Given the description of an element on the screen output the (x, y) to click on. 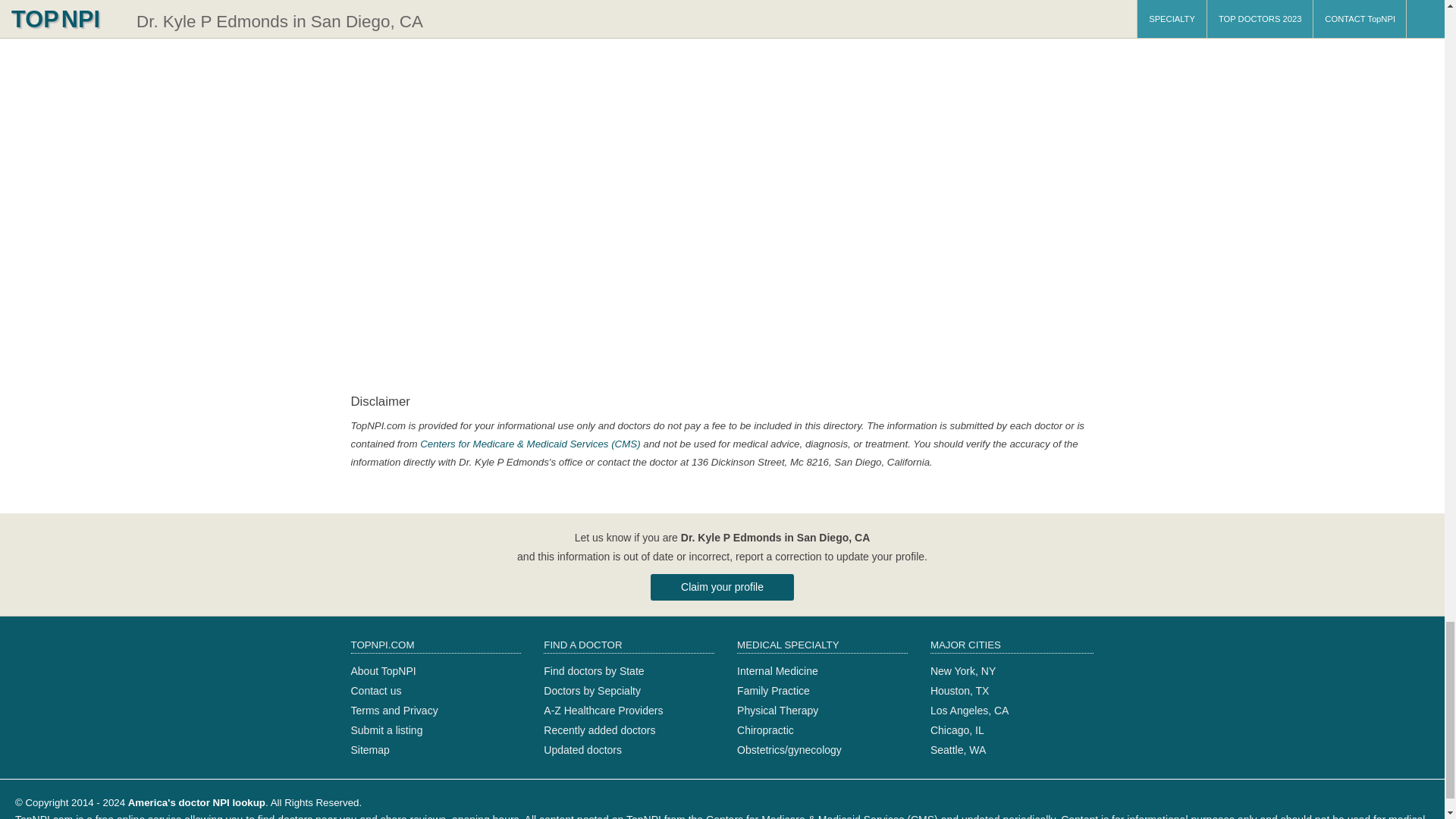
Claim your profile (721, 587)
